Given the description of an element on the screen output the (x, y) to click on. 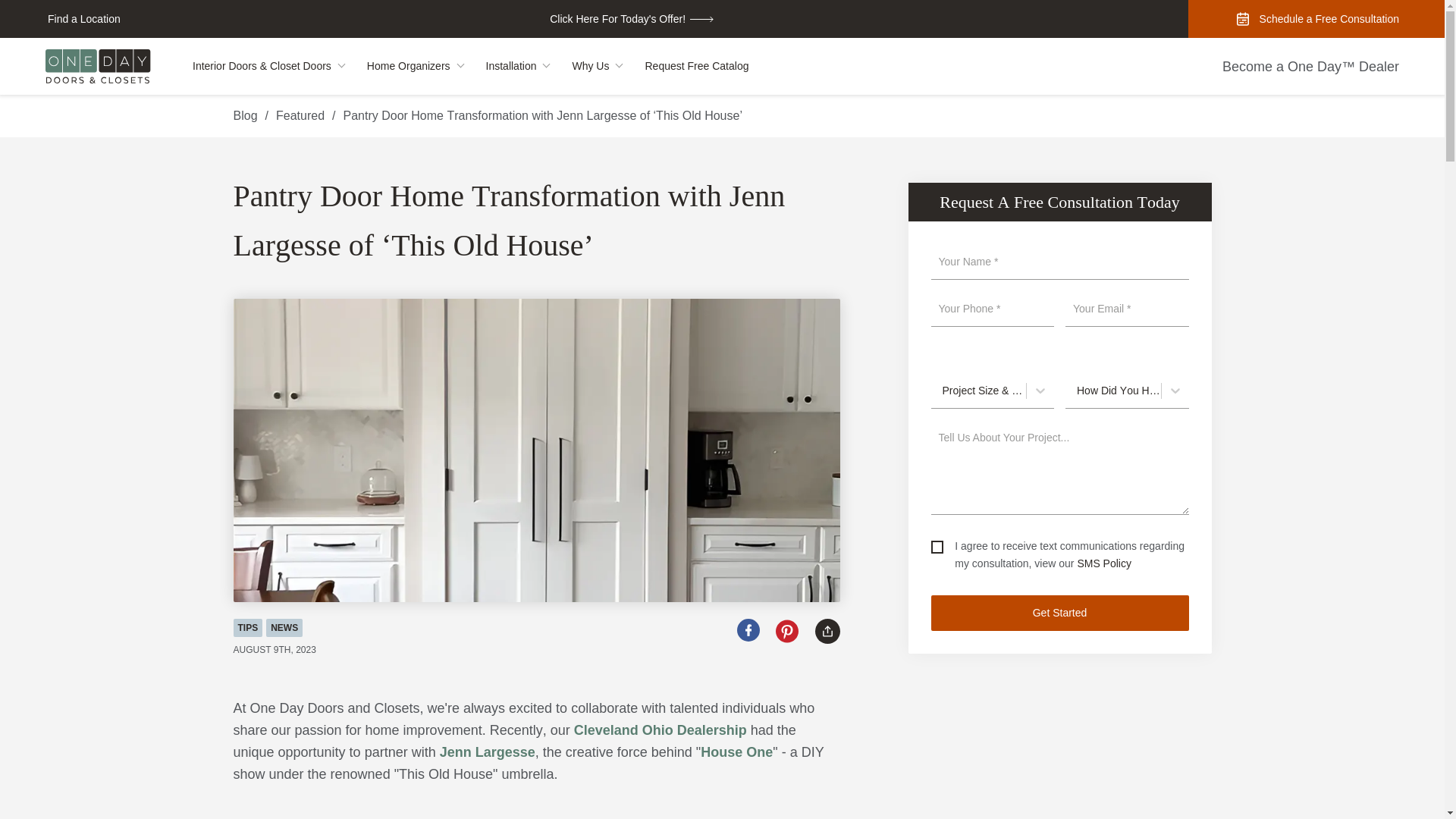
Cleveland Ohio Interior Doors (659, 729)
Jenn Largesse (487, 752)
Request Free Catalog (694, 65)
House One (736, 752)
House One (736, 752)
TIPS (247, 628)
Build Basic (487, 752)
NEWS (284, 628)
Get Started (1060, 611)
Cleveland Ohio Dealership (659, 729)
